Given the description of an element on the screen output the (x, y) to click on. 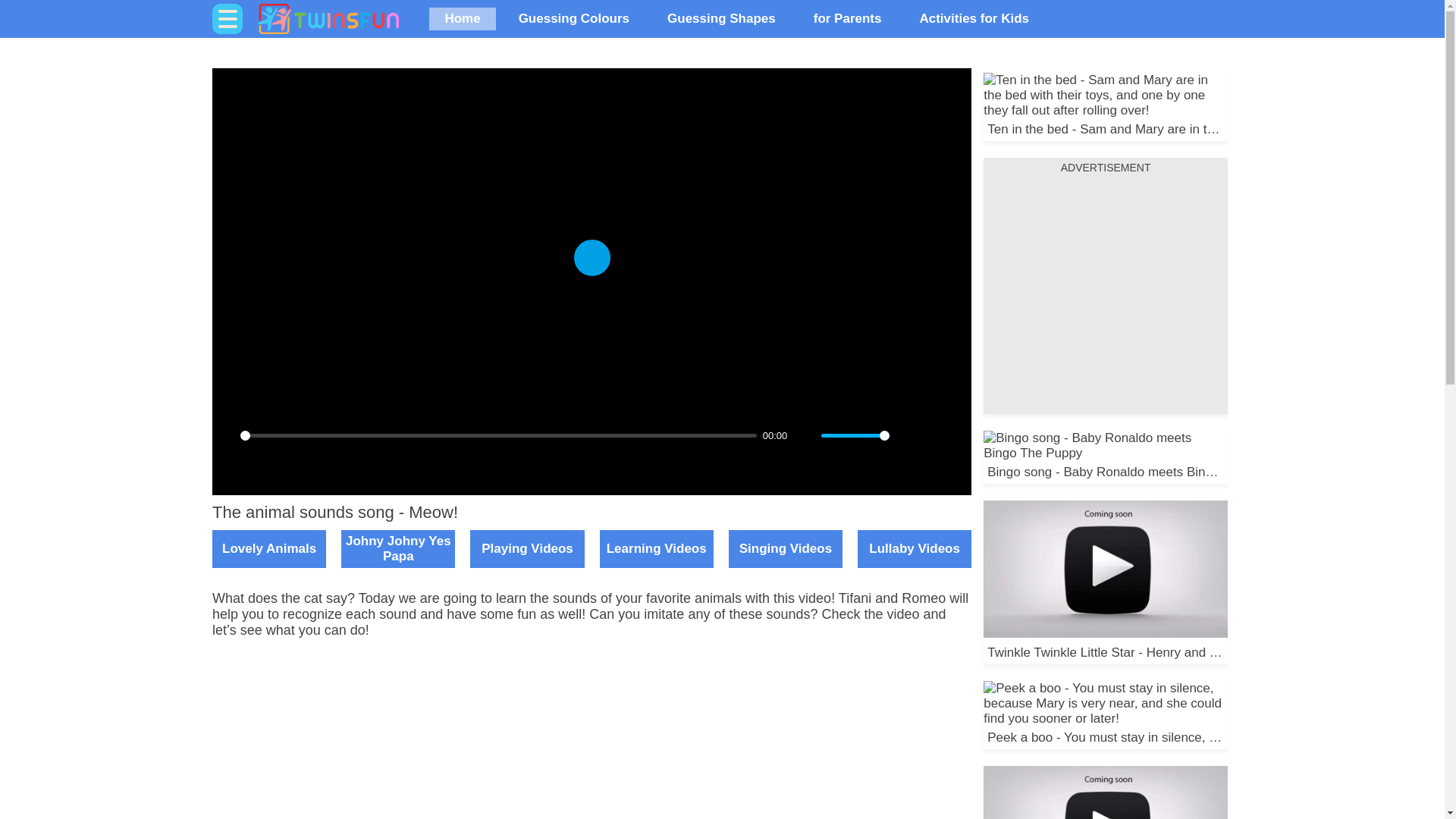
Johny Johny Yes Papa (397, 548)
Singing Videos (786, 548)
Bingo song - Baby Ronaldo meets Bingo The Puppy (1105, 457)
PIP (932, 435)
Activities for Kids (973, 18)
Playing Videos (526, 548)
0 (498, 435)
Guessing Shapes (721, 18)
Play (591, 257)
